Given the description of an element on the screen output the (x, y) to click on. 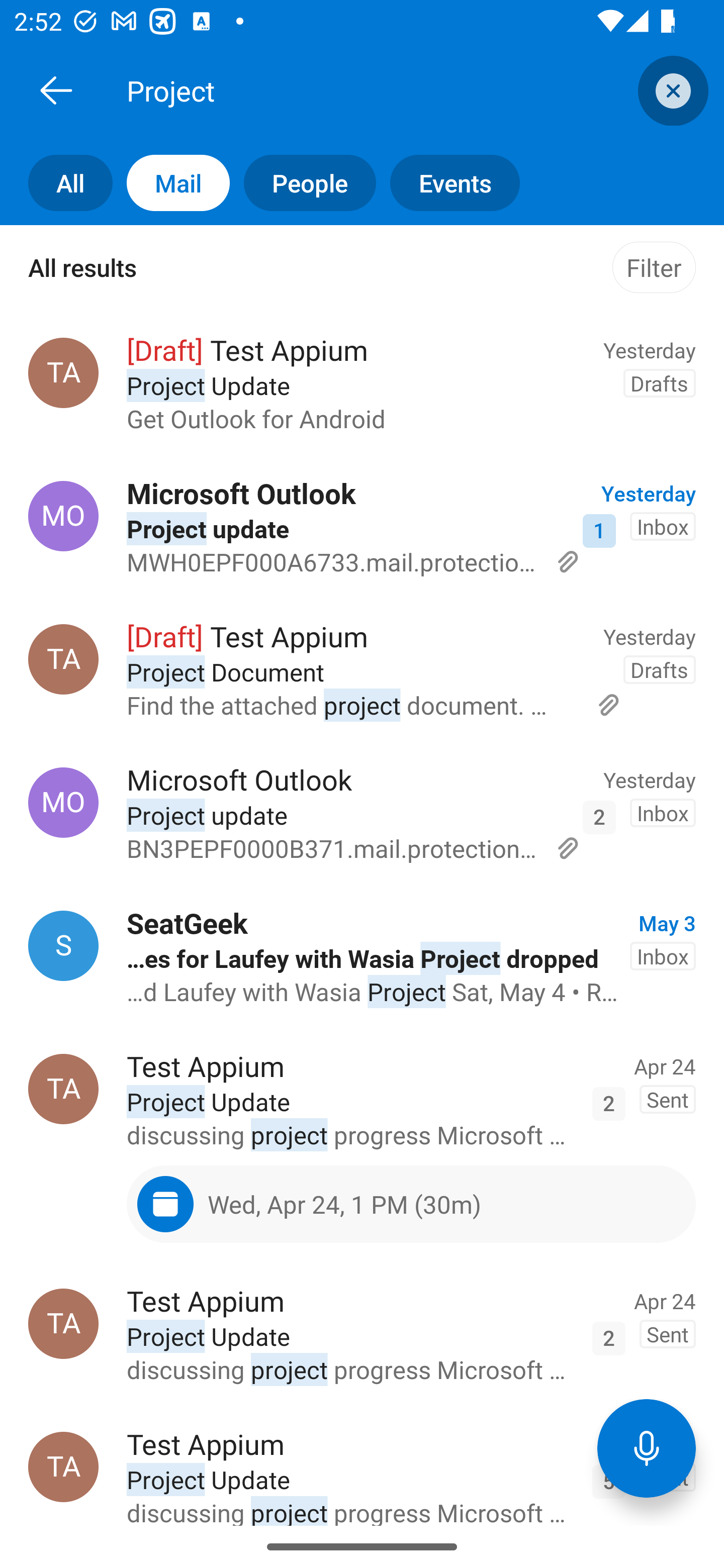
Back (55, 89)
Project (384, 89)
clear search (670, 90)
All (56, 183)
People (302, 183)
Events (447, 183)
Filter (653, 267)
Voice Assistant (646, 1447)
